Given the description of an element on the screen output the (x, y) to click on. 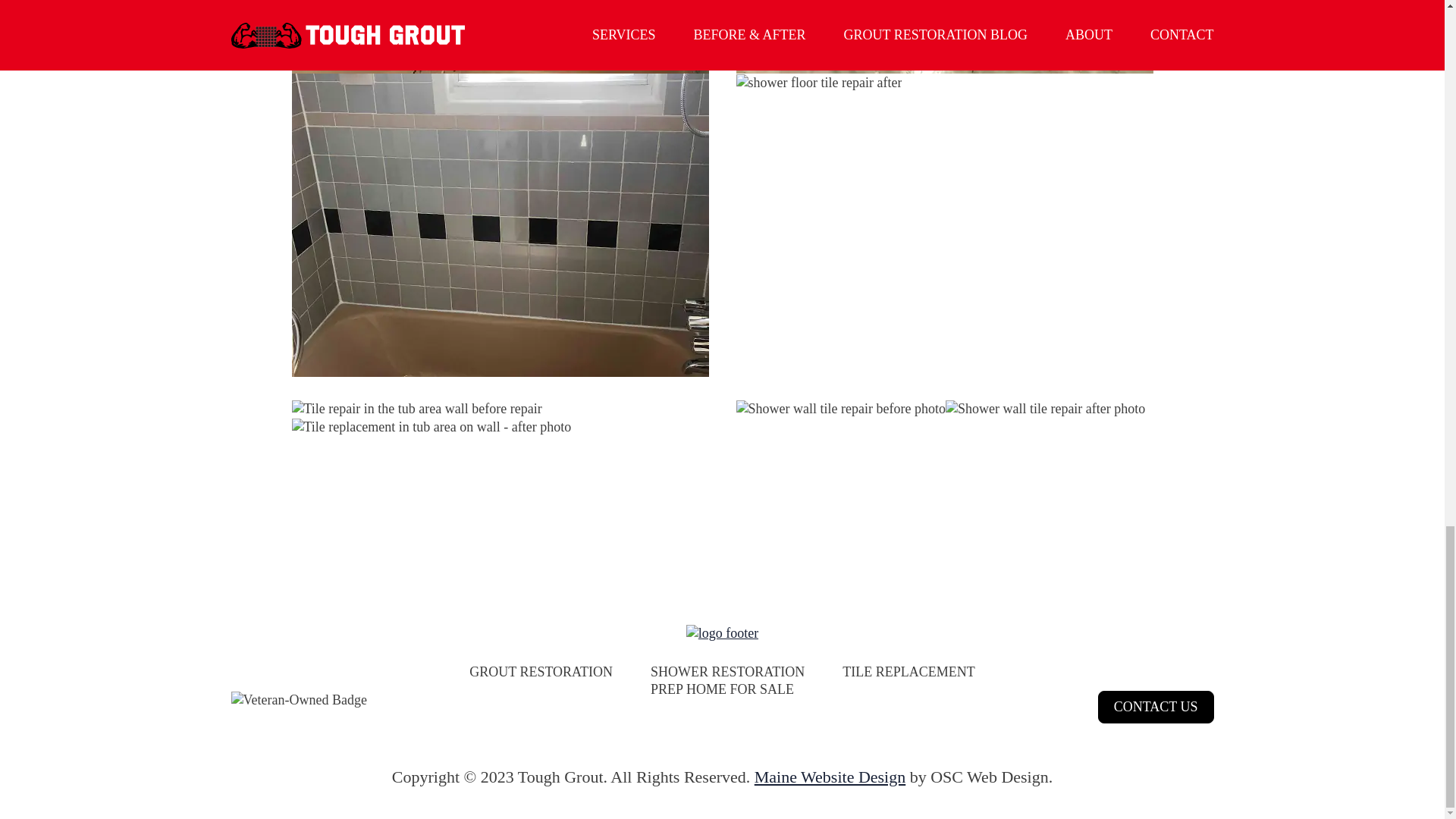
CONTACT US (1155, 707)
tile-repair-in-tub-area-before - Tough Grout (416, 408)
PREP HOME FOR SALE (721, 688)
shower-wall-repair-before - Tough Grout (1044, 408)
tile-repair-in-tub-area-after - Tough Grout (430, 426)
shower-wall-repair-after - Tough Grout (839, 408)
shower-floor-tile-replacement-before - Tough Grout (944, 36)
SHOWER RESTORATION (727, 671)
GROUT RESTORATION (540, 671)
Maine Website Design (829, 776)
tub-wall-tile-replacement-maine-before - Tough Grout (499, 36)
shower-floor-tile-replacement-after - Tough Grout (818, 82)
TILE REPLACEMENT (908, 671)
tub-wall-tile-replacement-maine-after - Tough Grout (499, 224)
